Given the description of an element on the screen output the (x, y) to click on. 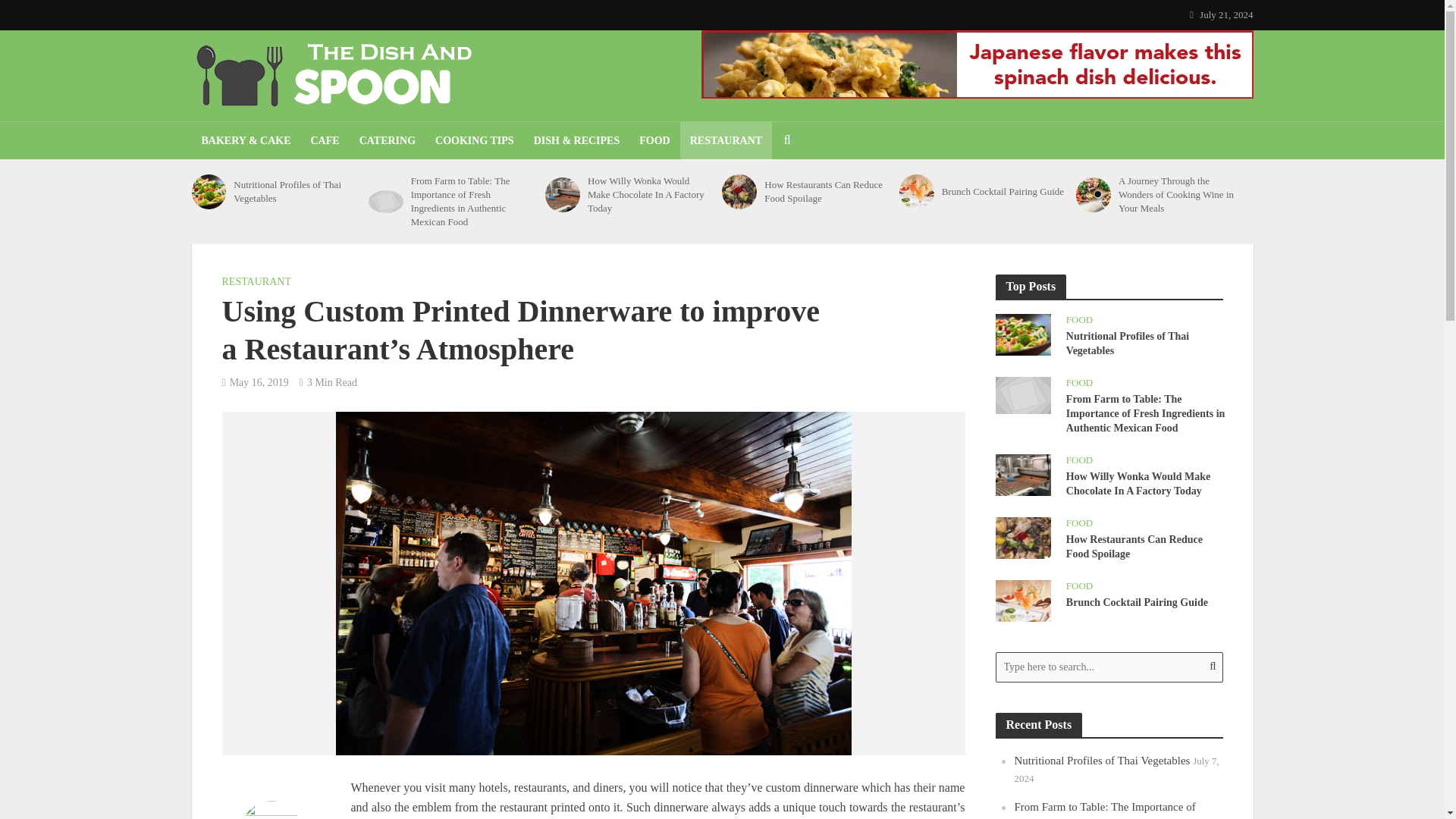
CAFE (324, 140)
How Willy Wonka Would Make Chocolate In A Factory Today (1021, 473)
RESTAURANT (255, 283)
FOOD (653, 140)
Nutritional Profiles of Thai Vegetables (295, 191)
Brunch Cocktail Pairing Guide (1021, 599)
RESTAURANT (725, 140)
A Journey Through the Wonders of Cooking Wine in Your Meals (1180, 194)
Brunch Cocktail Pairing Guide (916, 191)
CATERING (387, 140)
How Restaurants Can Reduce Food Spoilage (1021, 536)
How Restaurants Can Reduce Food Spoilage (826, 191)
